Given the description of an element on the screen output the (x, y) to click on. 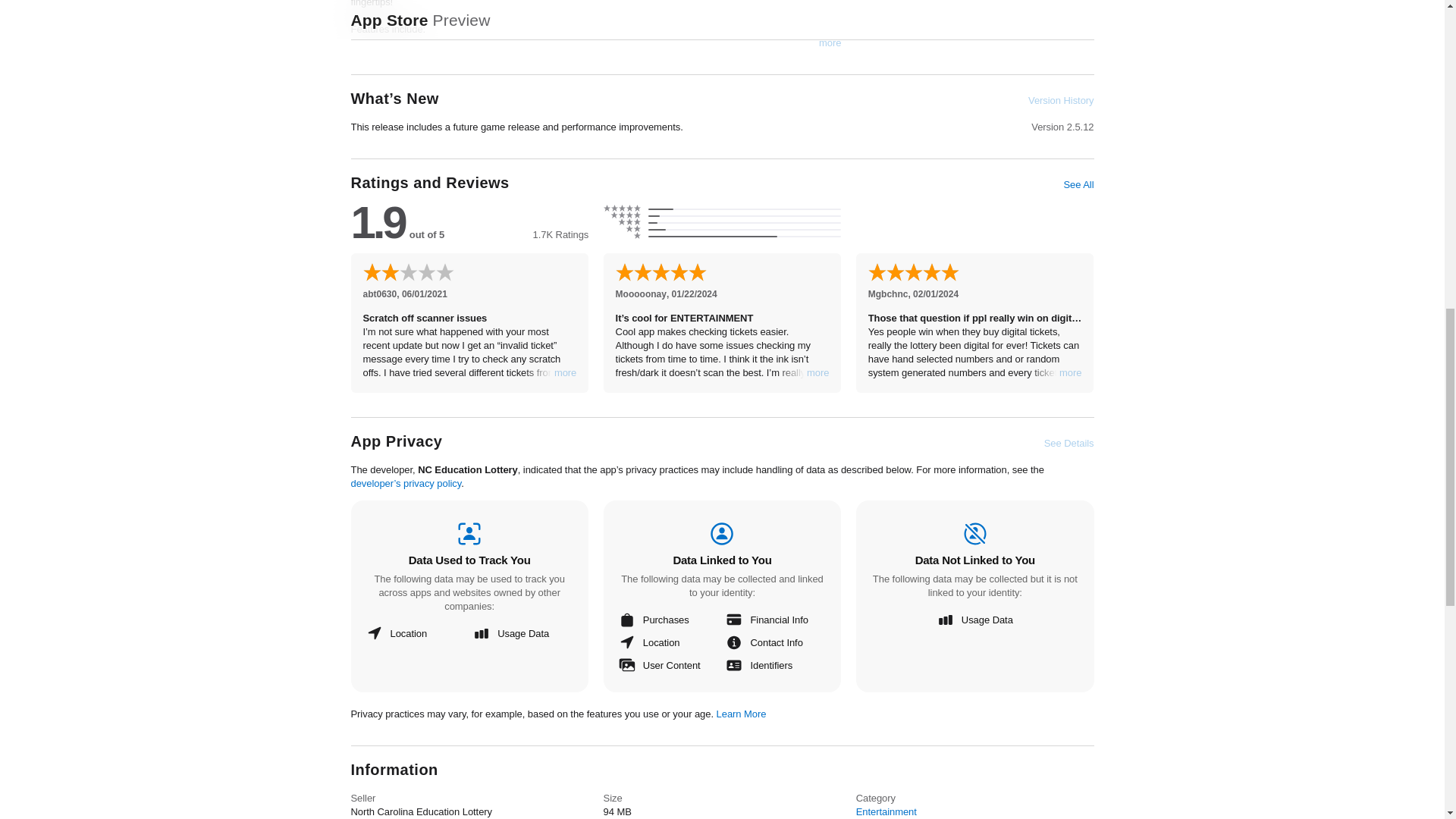
Entertainment (886, 811)
more (565, 373)
more (829, 42)
See Details (1068, 443)
more (817, 373)
more (1070, 373)
Version History (1060, 100)
See All (1077, 184)
Learn More (741, 713)
